Given the description of an element on the screen output the (x, y) to click on. 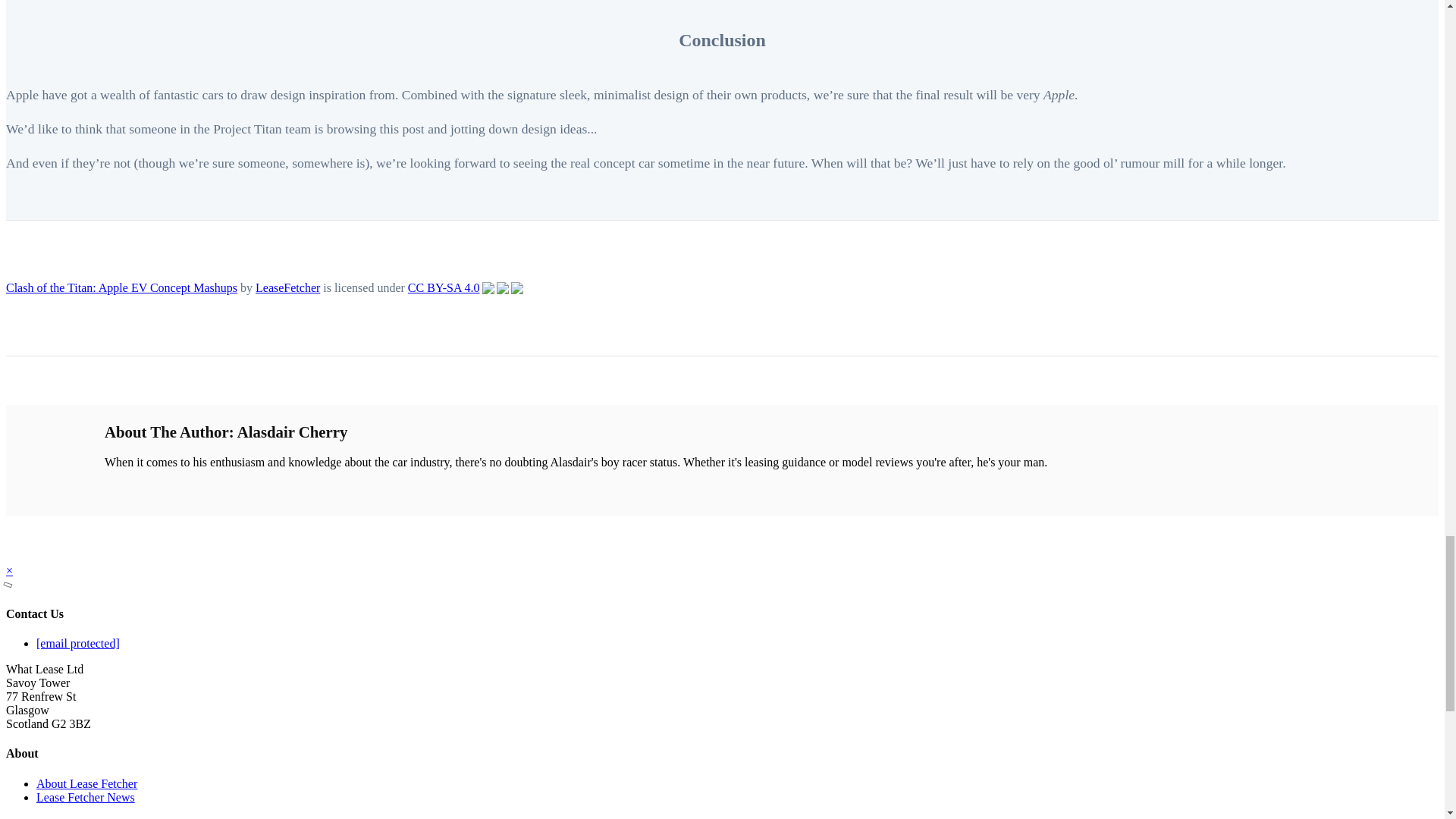
Lease Fetcher News (85, 797)
LeaseFetcher (288, 287)
About Lease Fetcher (86, 783)
Clash of the Titan: Apple EV Concept Mashups (121, 287)
CC BY-SA 4.0 (464, 287)
